Given the description of an element on the screen output the (x, y) to click on. 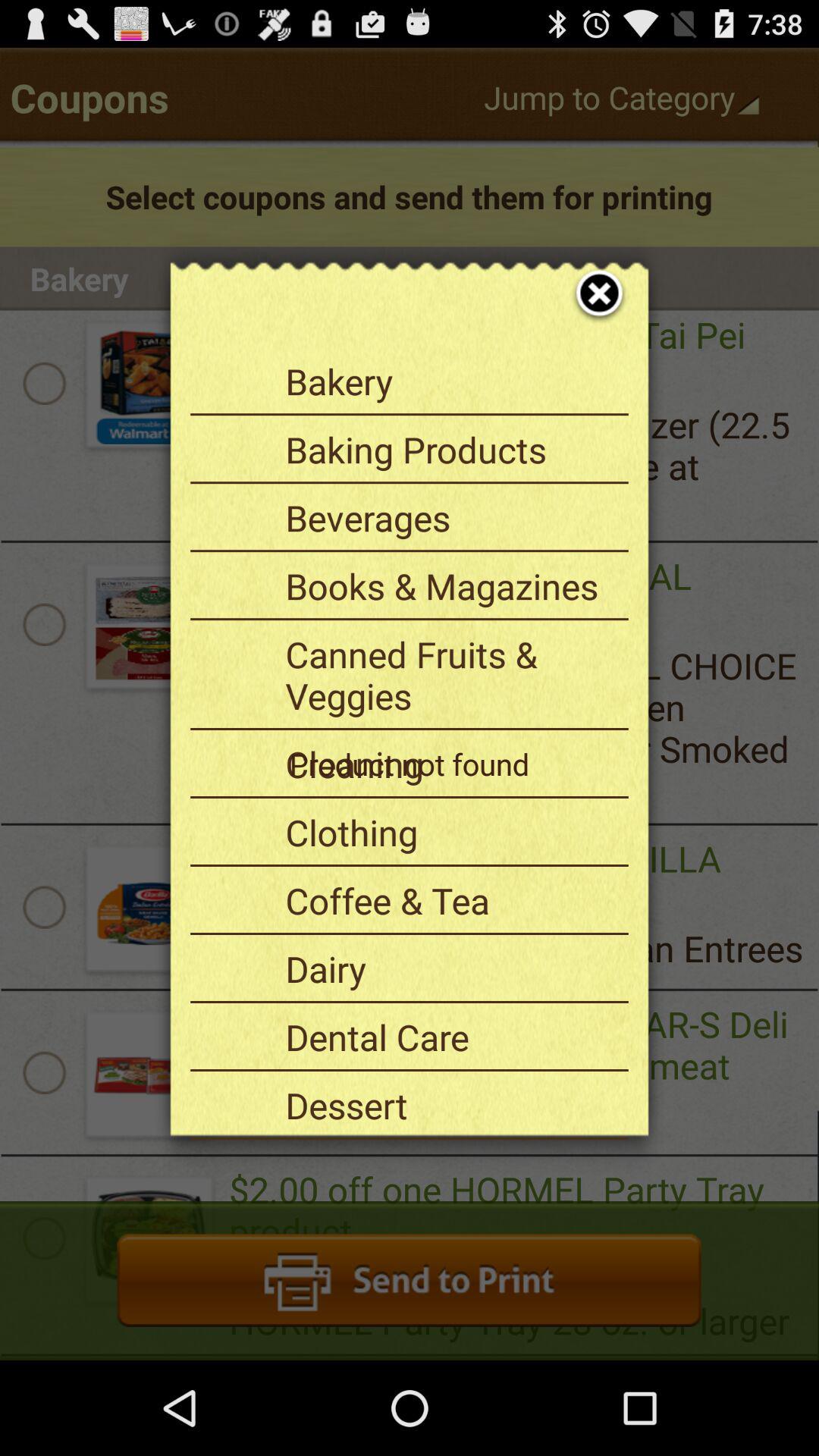
choose the icon above dairy (451, 900)
